Given the description of an element on the screen output the (x, y) to click on. 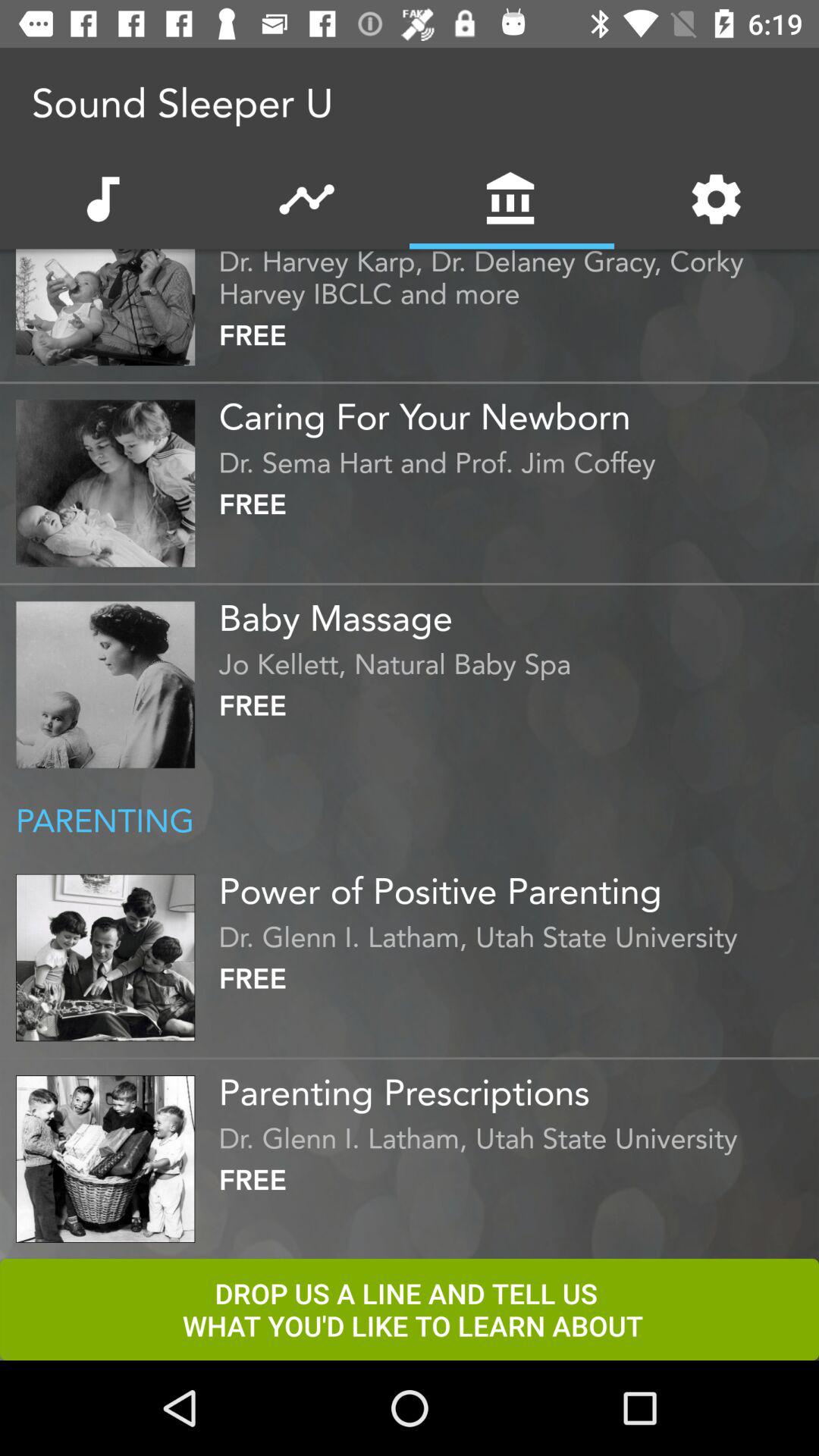
tap the item above the jo kellett natural (515, 612)
